Given the description of an element on the screen output the (x, y) to click on. 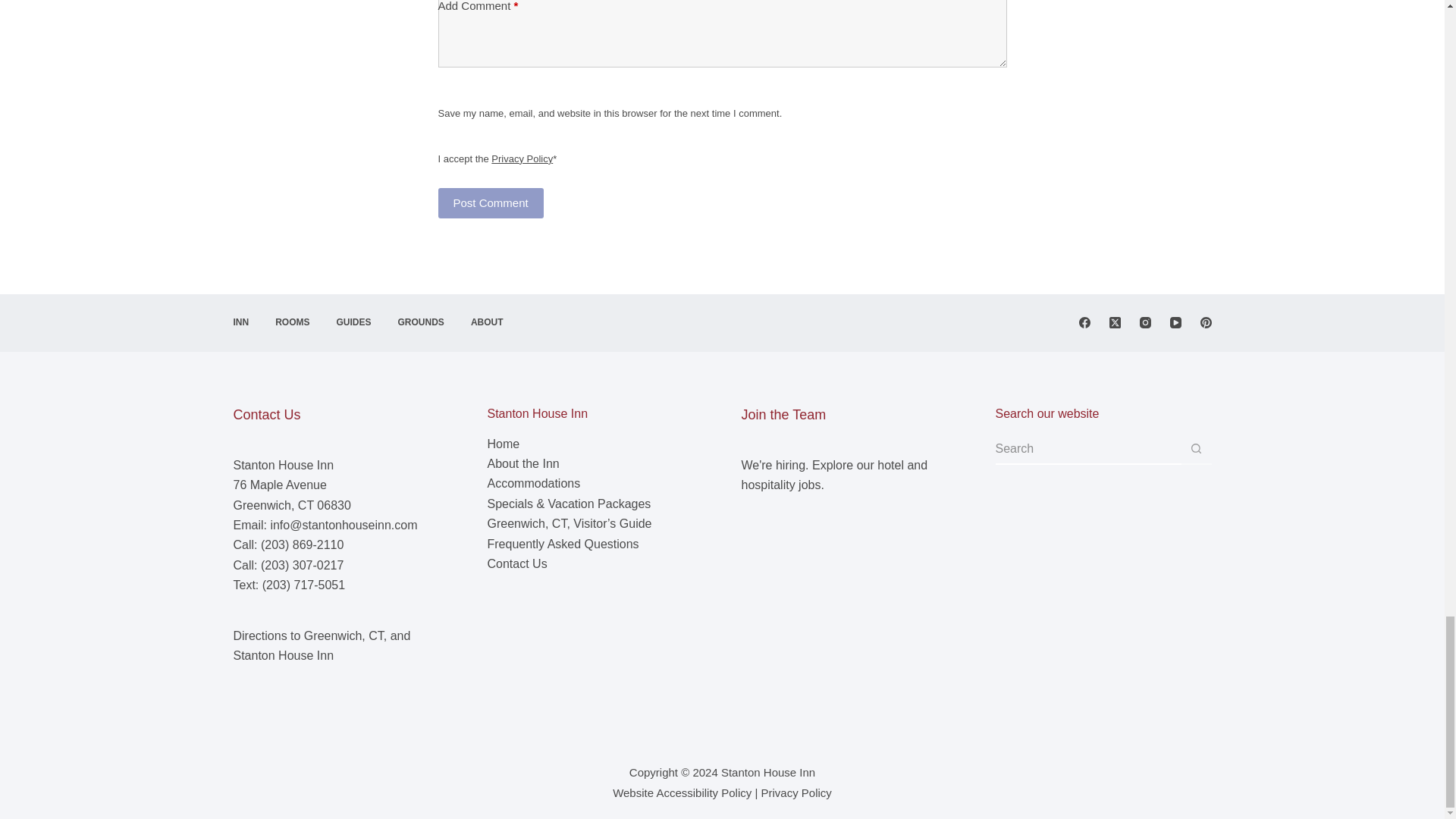
on (443, 140)
Search for... (1087, 449)
yes (443, 95)
